Given the description of an element on the screen output the (x, y) to click on. 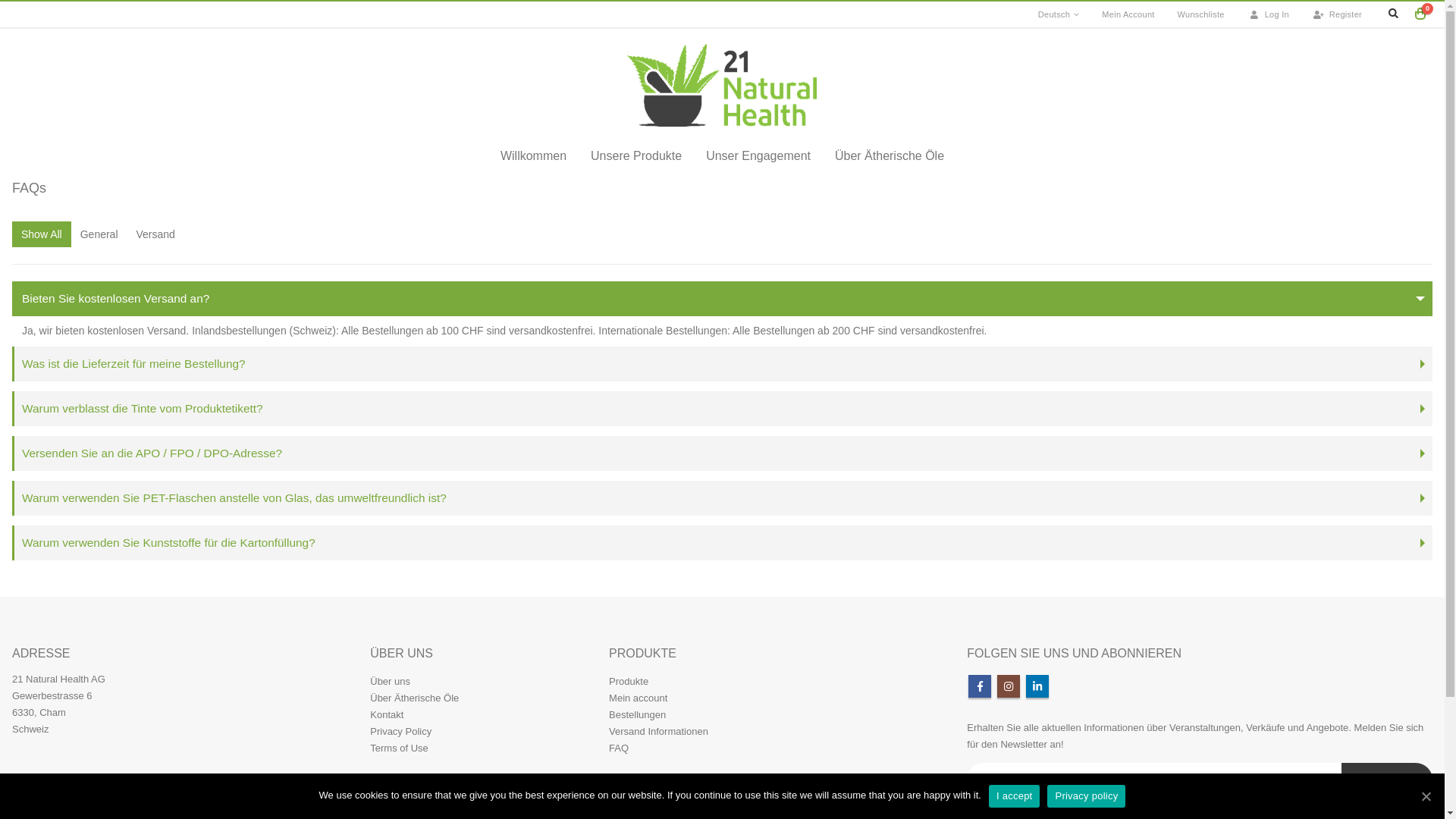
General Element type: text (99, 234)
Mein account Element type: text (637, 697)
Kontakt Element type: text (386, 714)
FAQ Element type: text (618, 747)
Subscribe! Element type: text (1386, 779)
Unsere Produkte Element type: text (636, 155)
Terms of Use Element type: text (399, 747)
Privacy policy Element type: text (1086, 795)
Mein Account Element type: text (1127, 14)
Instagram Element type: text (1008, 685)
I accept Element type: text (1014, 795)
Linkedin Element type: text (1037, 685)
Versand Element type: text (155, 234)
Facebook Element type: text (979, 685)
Willkommen Element type: text (533, 155)
Log In Element type: text (1268, 14)
Register Element type: text (1336, 14)
Versand Informationen Element type: text (658, 731)
Bestellungen Element type: text (636, 714)
Privacy Policy Element type: text (400, 731)
Deutsch Element type: text (1058, 14)
Produkte Element type: text (628, 681)
Wunschliste Element type: text (1201, 14)
21 Natural Health - Pure and Powerful Element type: hover (721, 84)
Unser Engagement Element type: text (758, 155)
Show All Element type: text (41, 234)
